Given the description of an element on the screen output the (x, y) to click on. 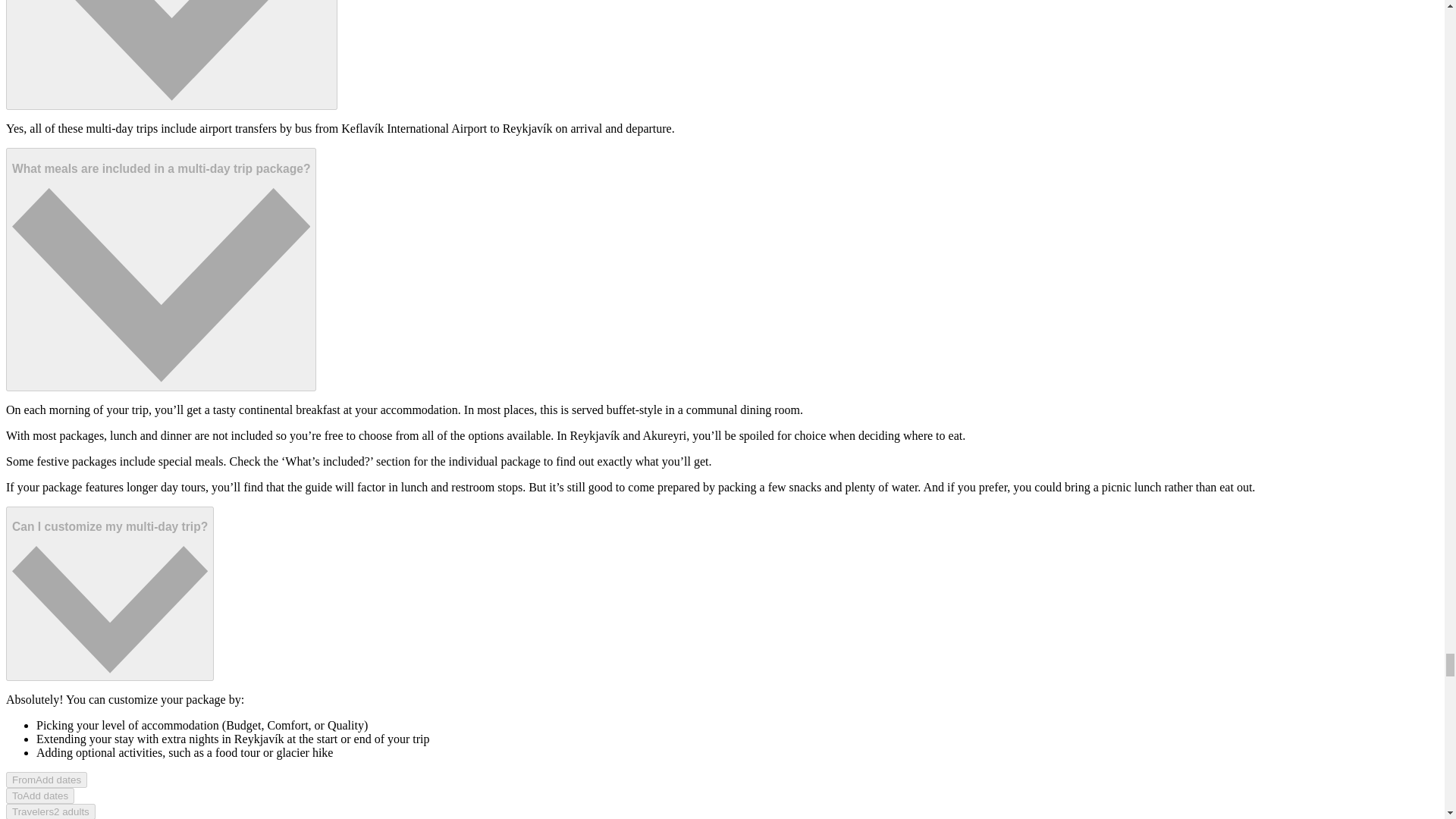
Read more (109, 593)
Read more (160, 269)
Read more (171, 54)
